Given the description of an element on the screen output the (x, y) to click on. 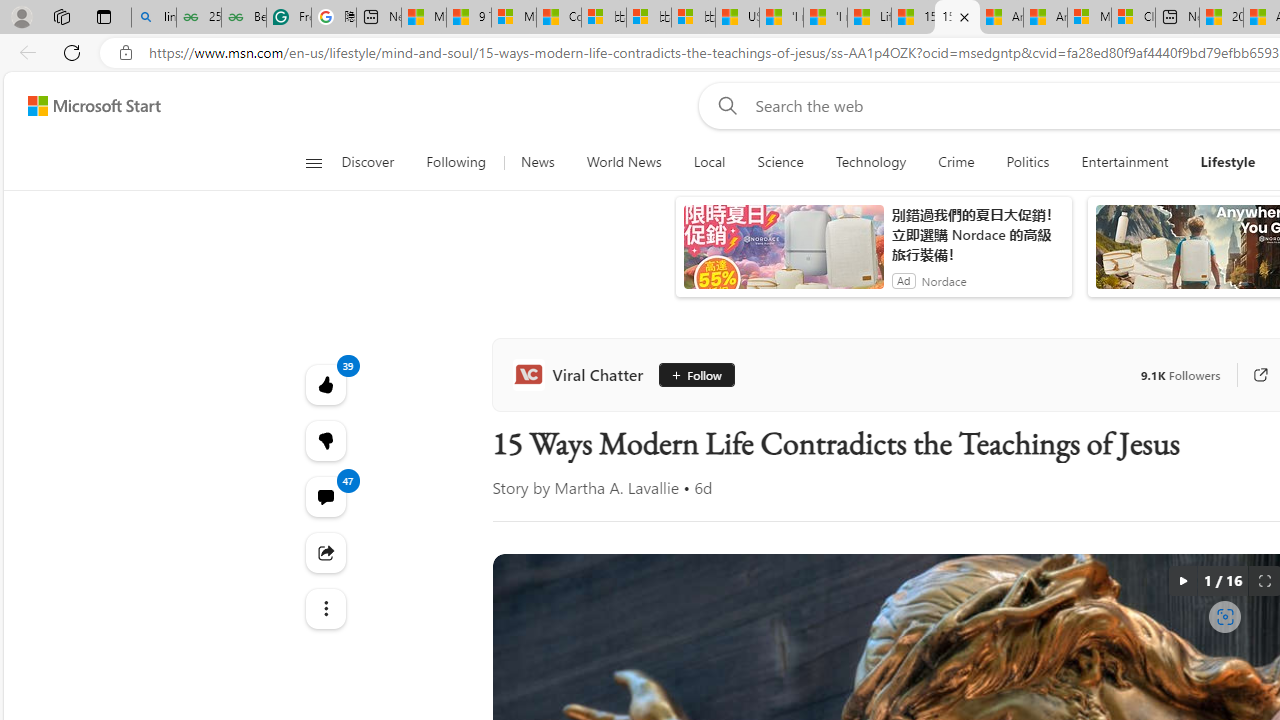
See more (324, 608)
World News (623, 162)
Discover (375, 162)
20 Ways to Boost Your Protein Intake at Every Meal (1220, 17)
Dislike (324, 440)
Microsoft Start (94, 105)
Share this story (324, 552)
25 Basic Linux Commands For Beginners - GeeksforGeeks (198, 17)
autorotate button (1181, 580)
Science (780, 162)
Crime (955, 162)
Entertainment (1124, 162)
Web search (724, 105)
